Given the description of an element on the screen output the (x, y) to click on. 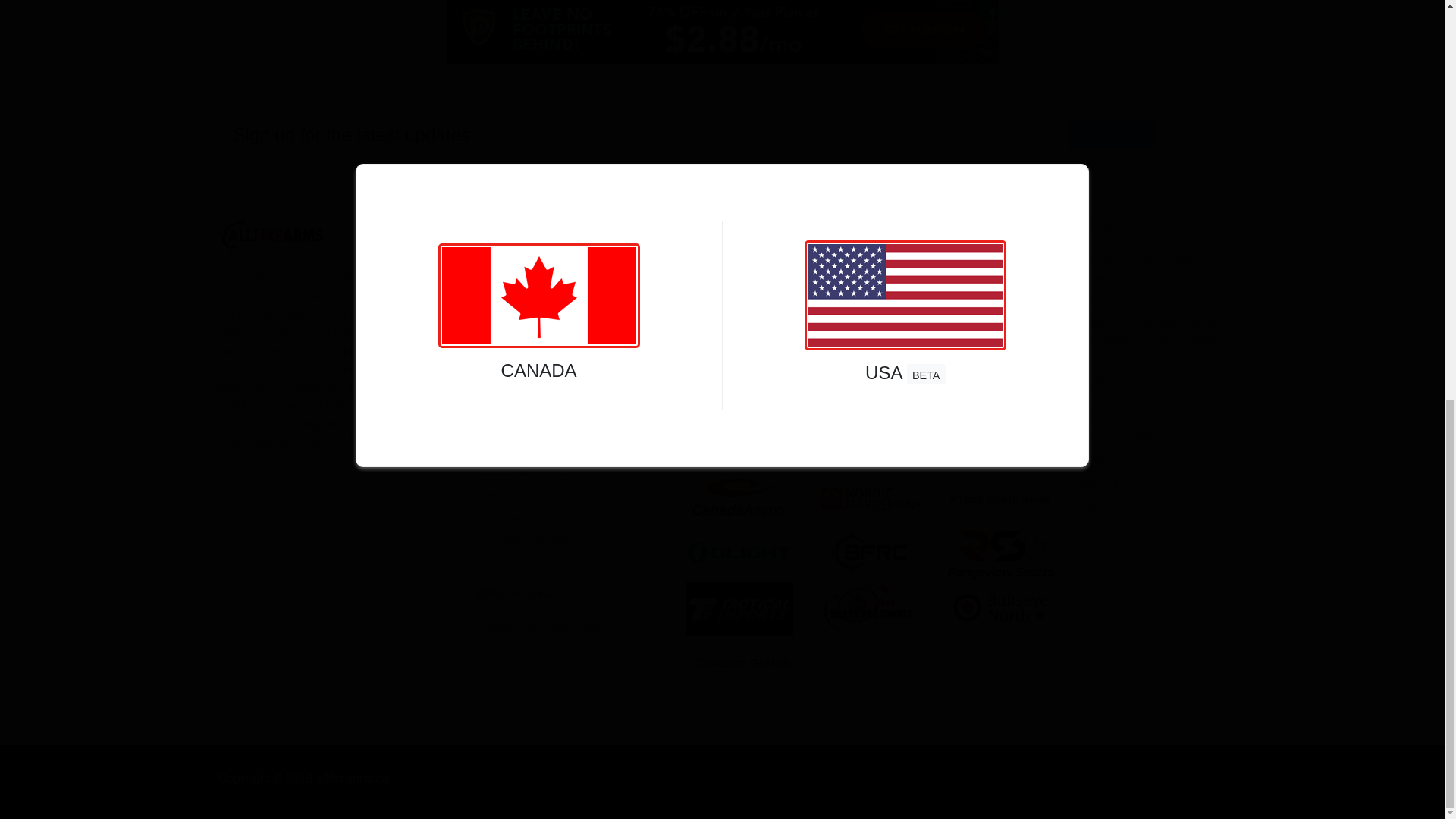
Canada's National Firearms Assocation (541, 417)
Outdoorsmen Forum (524, 472)
Al Flaherty's (739, 276)
Canadian Gun Nutz (522, 258)
Gun Owners of Canada (532, 281)
The Gun Blog (505, 494)
Canadian Gun Blog (522, 540)
Canadian Firearms Safety Course (537, 376)
Canadian Firearms Institute (541, 449)
Best VPN (721, 31)
Canadian Firearms Blog (533, 517)
IPSC Canada (508, 345)
Wolverine Suppliers (869, 276)
CSSA Canadian Shooting Sports (536, 313)
Fortune Coins Sweepstakes (542, 637)
